Given the description of an element on the screen output the (x, y) to click on. 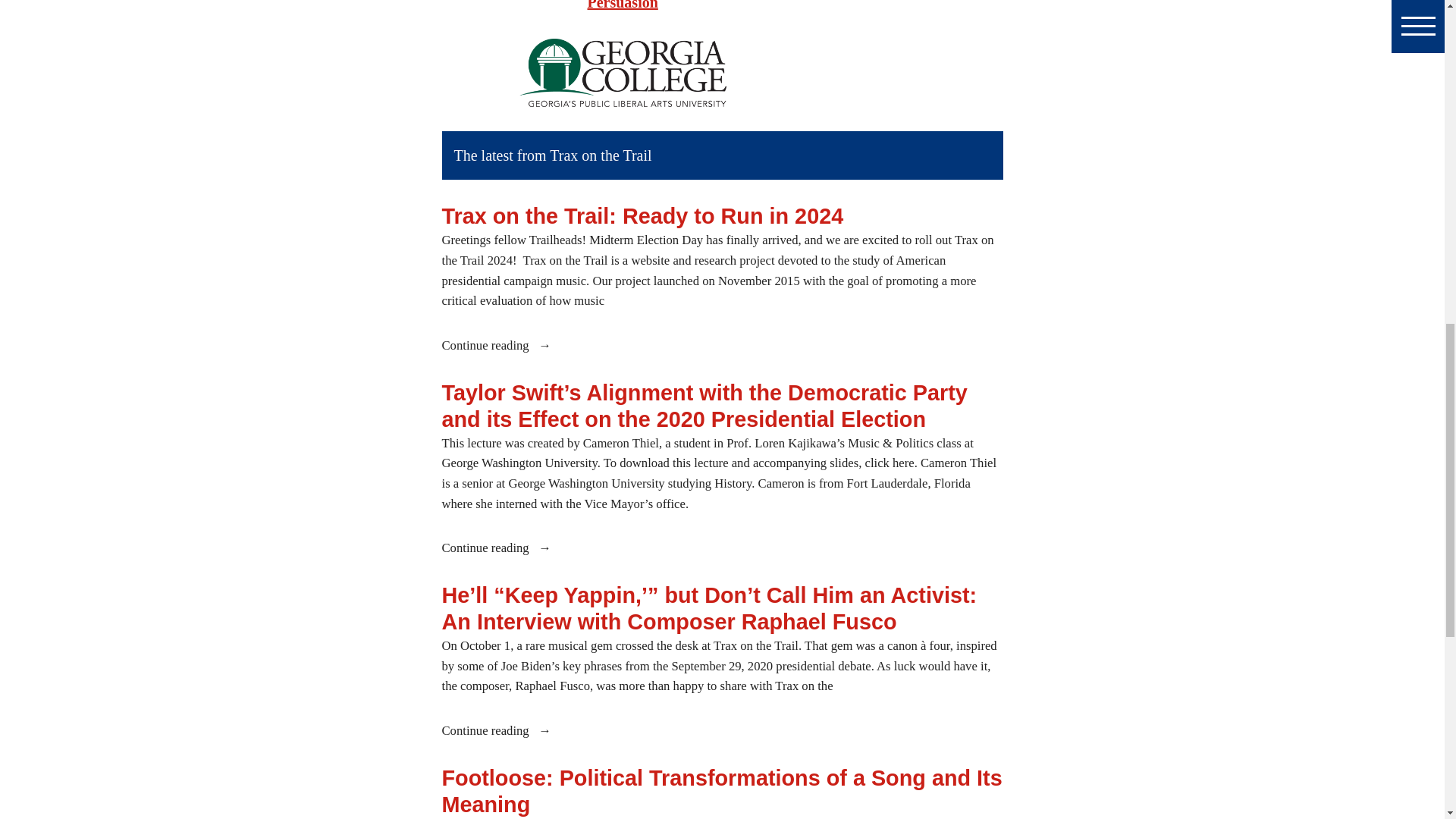
Trax on the Trail: Ready to Run in 2024 (642, 215)
Songs of Political Persuasion (689, 5)
